Given the description of an element on the screen output the (x, y) to click on. 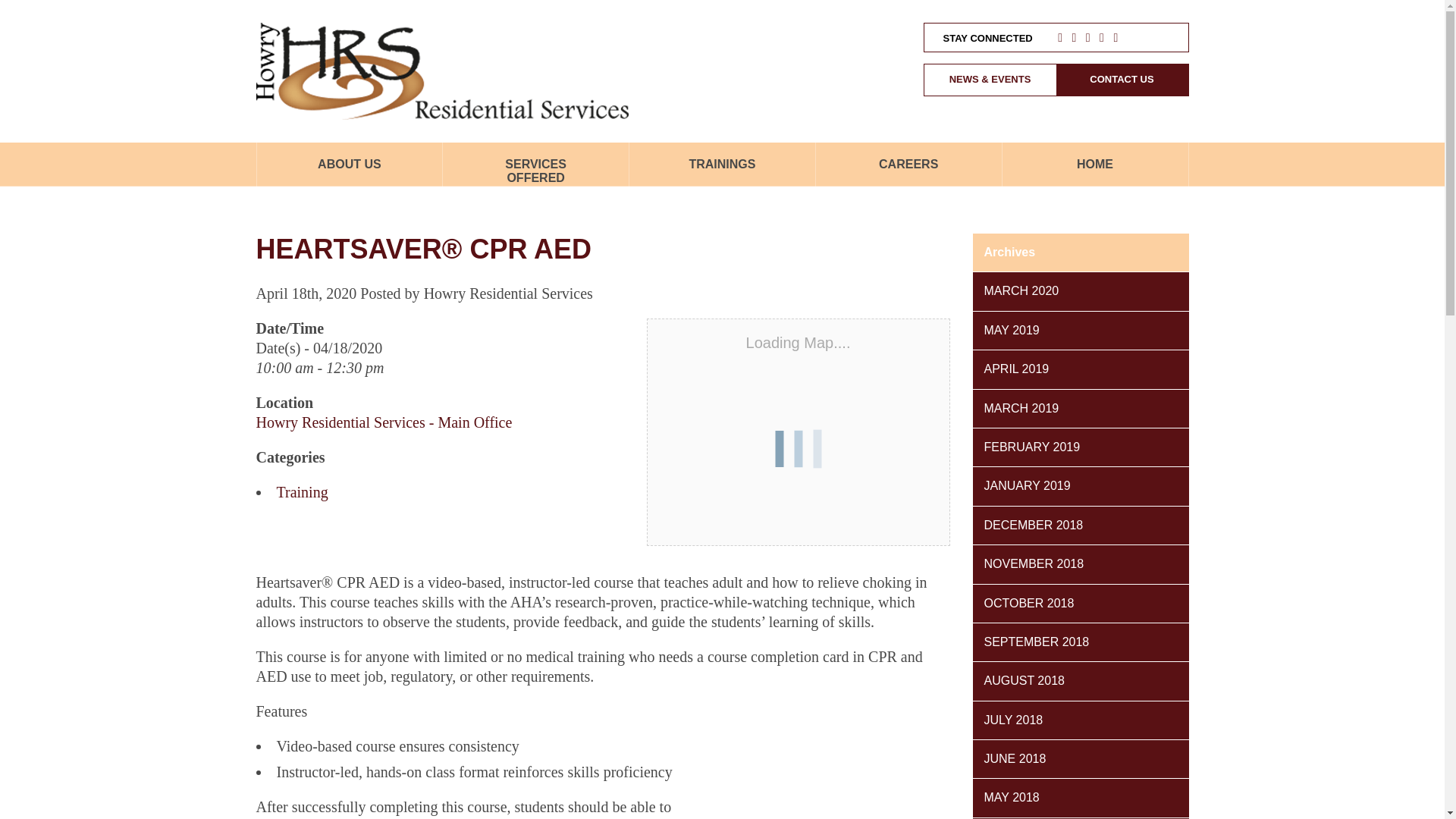
ABOUT US (348, 171)
HOME (1094, 171)
SERVICES OFFERED (535, 171)
CONTACT US (1121, 79)
TRAININGS (721, 171)
CAREERS (908, 171)
